Given the description of an element on the screen output the (x, y) to click on. 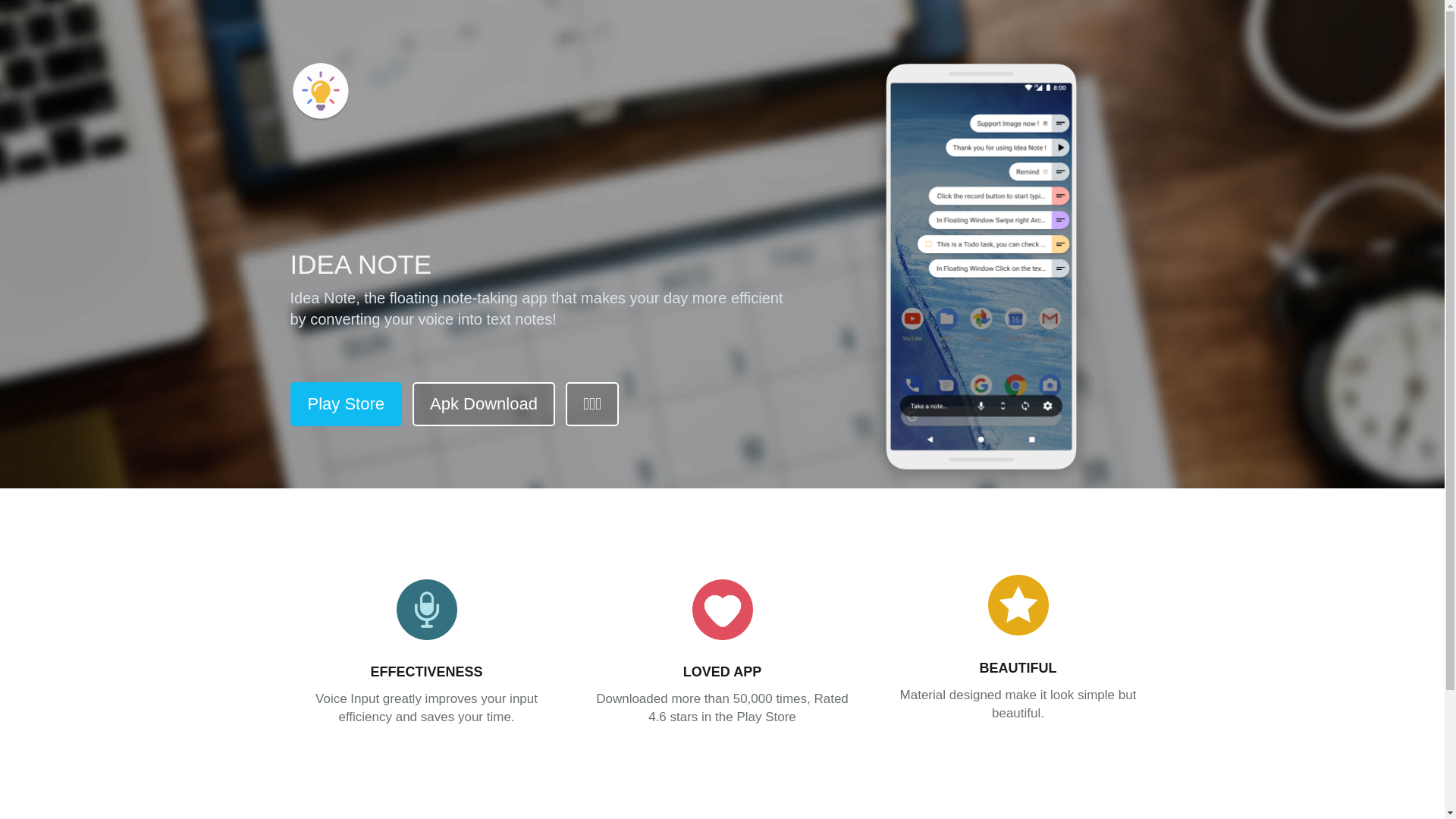
Apk Download Element type: text (483, 404)
Play Store Element type: text (345, 404)
